Given the description of an element on the screen output the (x, y) to click on. 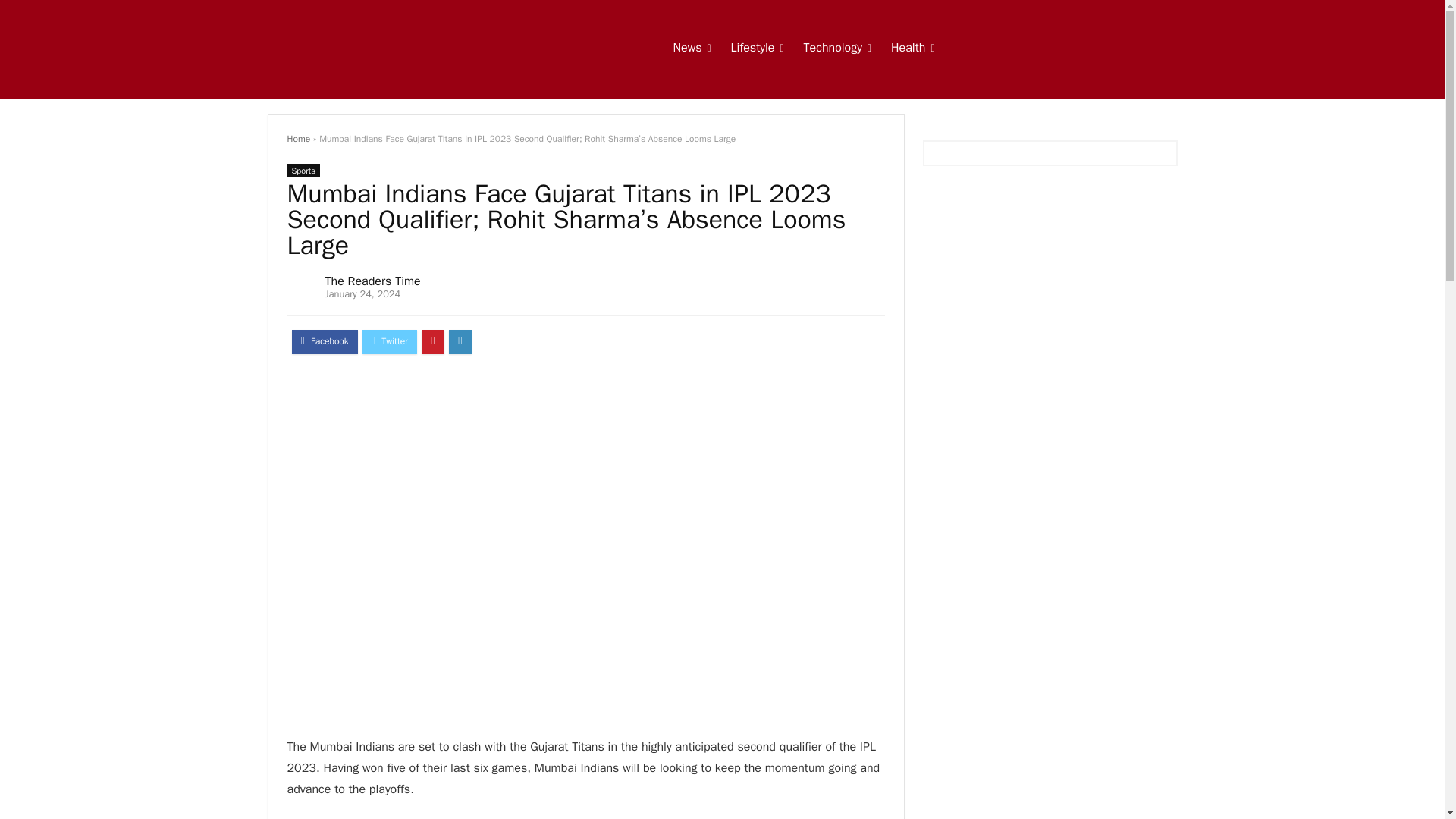
The Readers Time (372, 281)
Lifestyle (756, 49)
News (691, 49)
Health (911, 49)
Sports (302, 170)
View all posts in Sports (302, 170)
Technology (836, 49)
Home (298, 138)
